Given the description of an element on the screen output the (x, y) to click on. 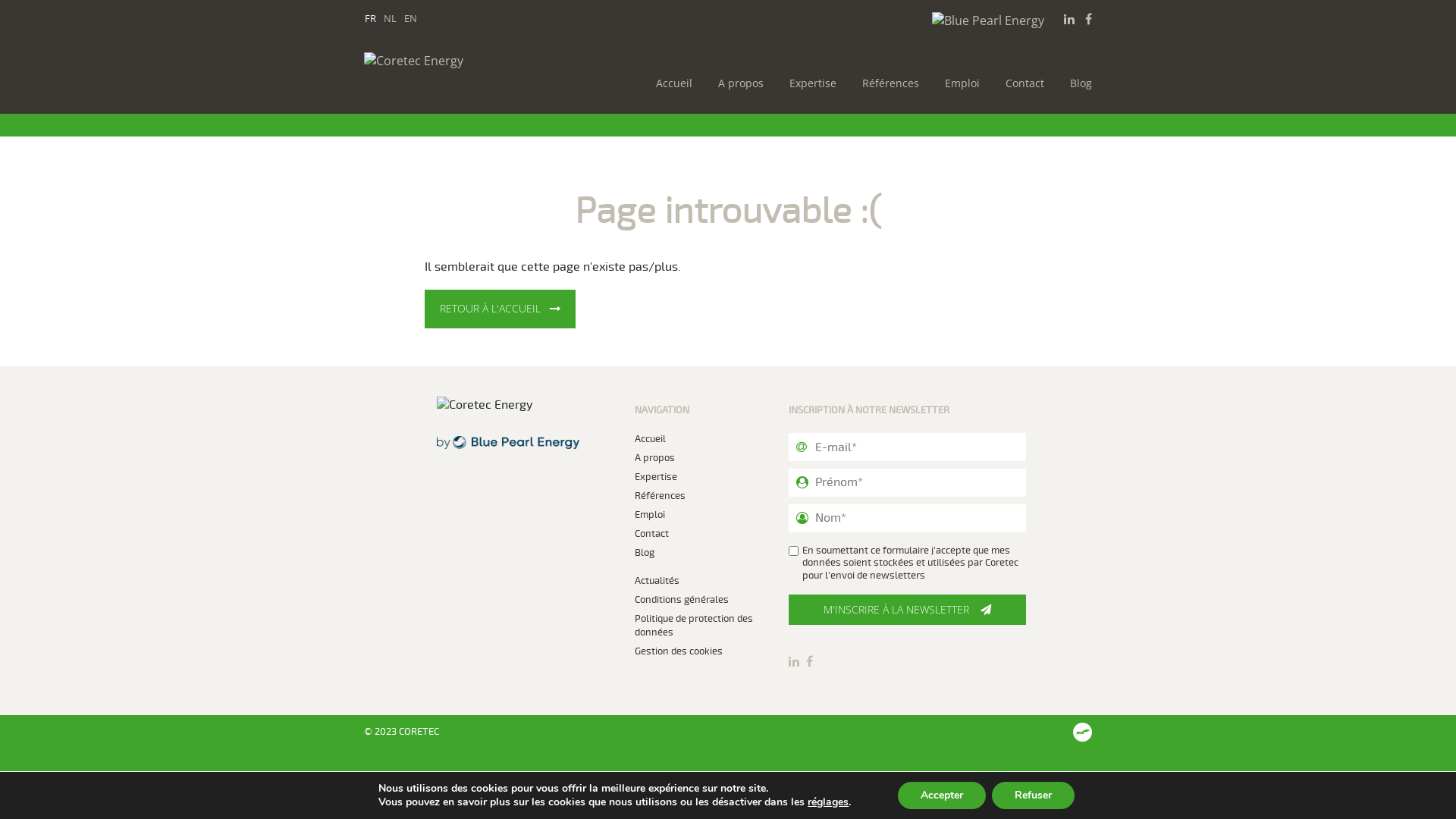
Accepter Element type: text (941, 795)
FR Element type: text (370, 17)
Contact Element type: text (1020, 83)
Facebook Element type: text (1088, 18)
Facebook Element type: text (809, 661)
A propos Element type: text (654, 457)
Blog Element type: text (1077, 83)
EN Element type: text (410, 17)
Coretec Energy Element type: hover (458, 60)
Emploi Element type: text (649, 514)
Accueil Element type: text (670, 83)
NL Element type: text (389, 17)
Gestion des cookies Element type: text (678, 651)
Expertise Element type: text (655, 476)
Contact Element type: text (651, 533)
Blog Element type: text (644, 552)
Linkedin Element type: text (1068, 18)
Linkedin Element type: text (793, 661)
Refuser Element type: text (1032, 795)
Emploi Element type: text (958, 83)
A propos Element type: text (736, 83)
Accueil Element type: text (649, 439)
Expertise Element type: text (808, 83)
